Given the description of an element on the screen output the (x, y) to click on. 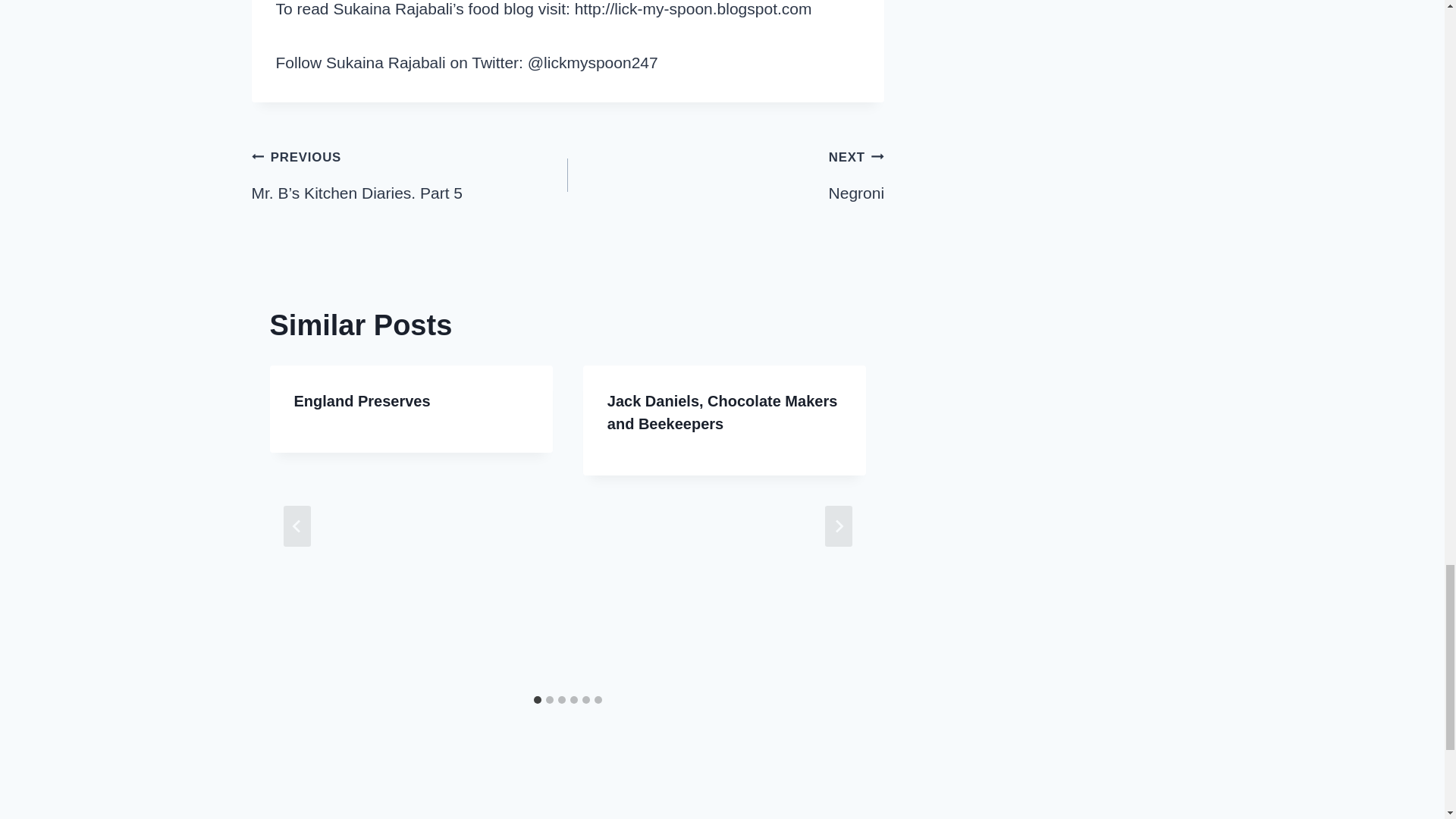
Jack Daniels, Chocolate Makers and Beekeepers (722, 412)
England Preserves (362, 401)
